Given the description of an element on the screen output the (x, y) to click on. 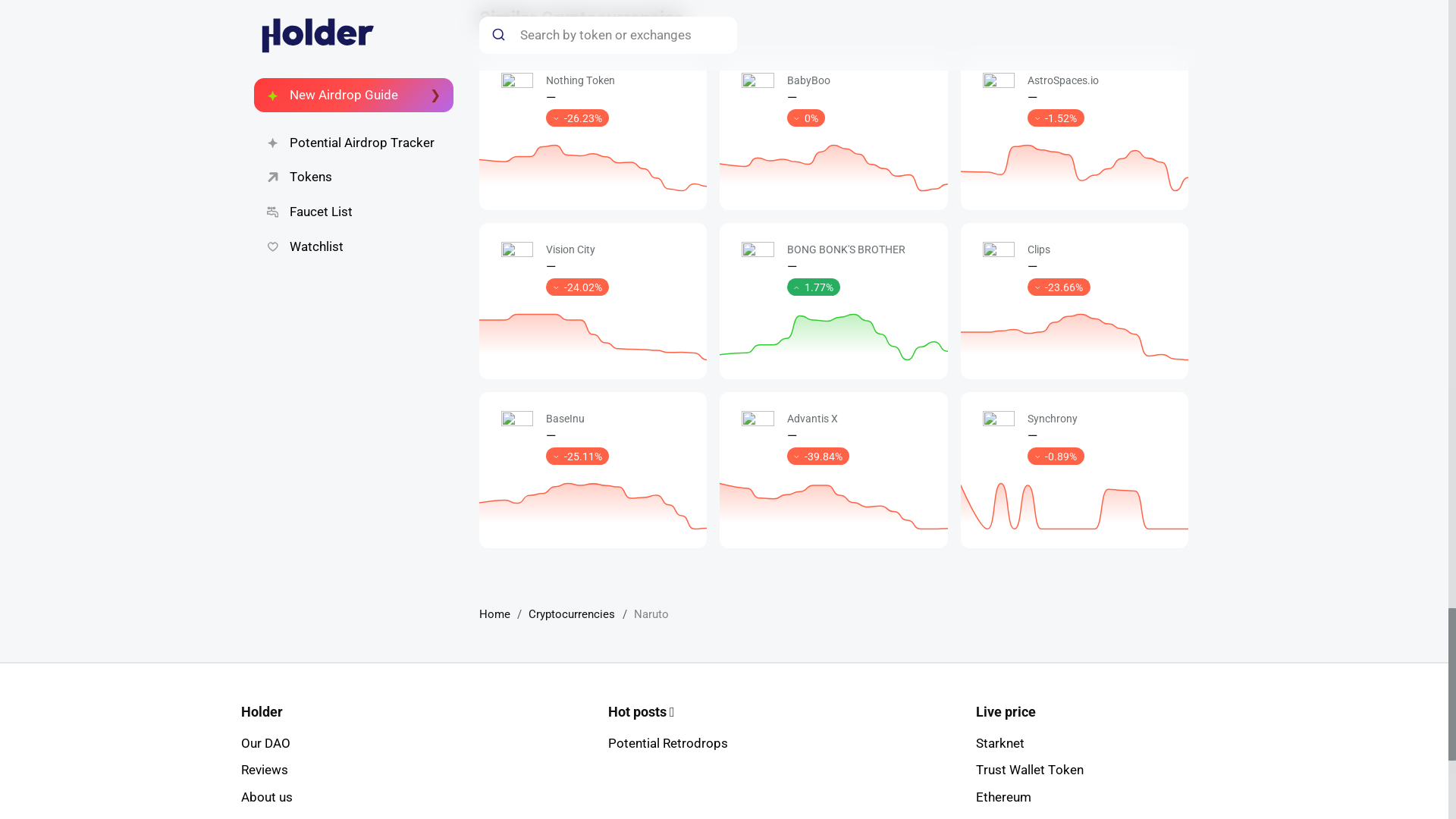
About us (266, 796)
Potential Retrodrops (668, 743)
Our DAO (265, 743)
Reviews (264, 769)
Contact us (271, 817)
Cryptocurrencies (571, 613)
Starknet (999, 743)
Home (495, 613)
